Given the description of an element on the screen output the (x, y) to click on. 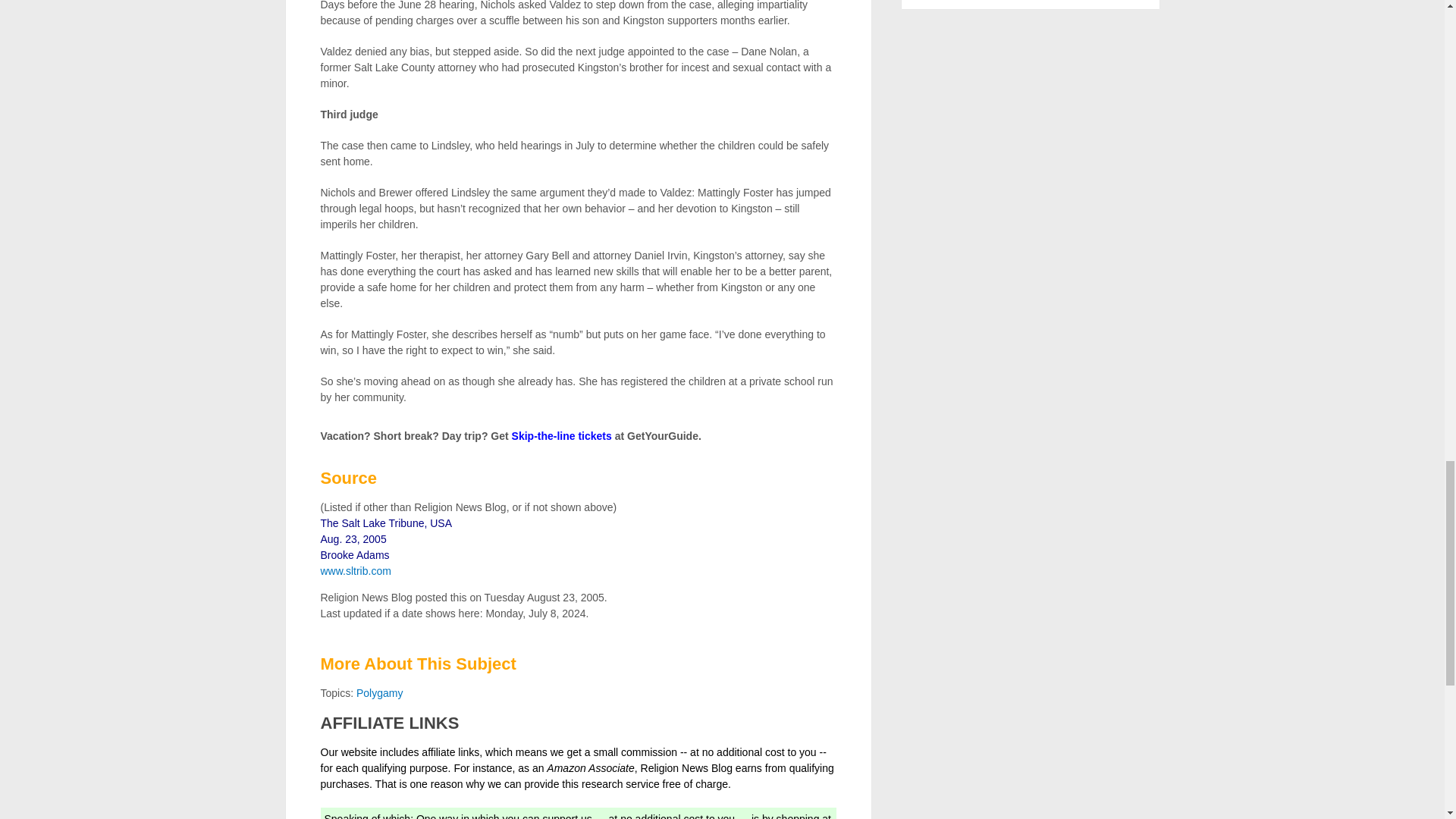
Polygamy (379, 693)
Skip-the-line tickets (561, 435)
www.sltrib.com (355, 571)
